Given the description of an element on the screen output the (x, y) to click on. 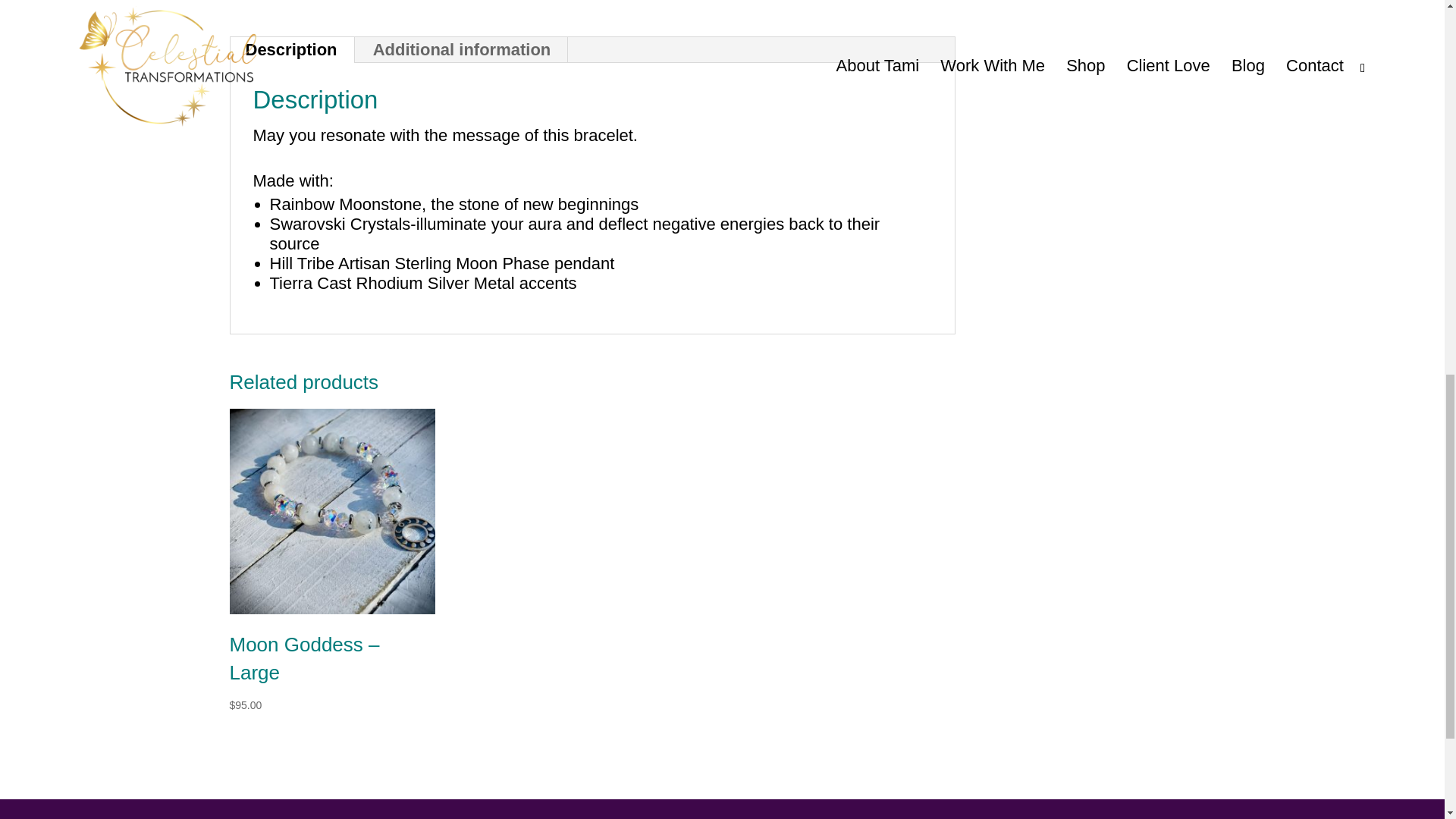
Description (290, 49)
Additional information (461, 49)
